Given the description of an element on the screen output the (x, y) to click on. 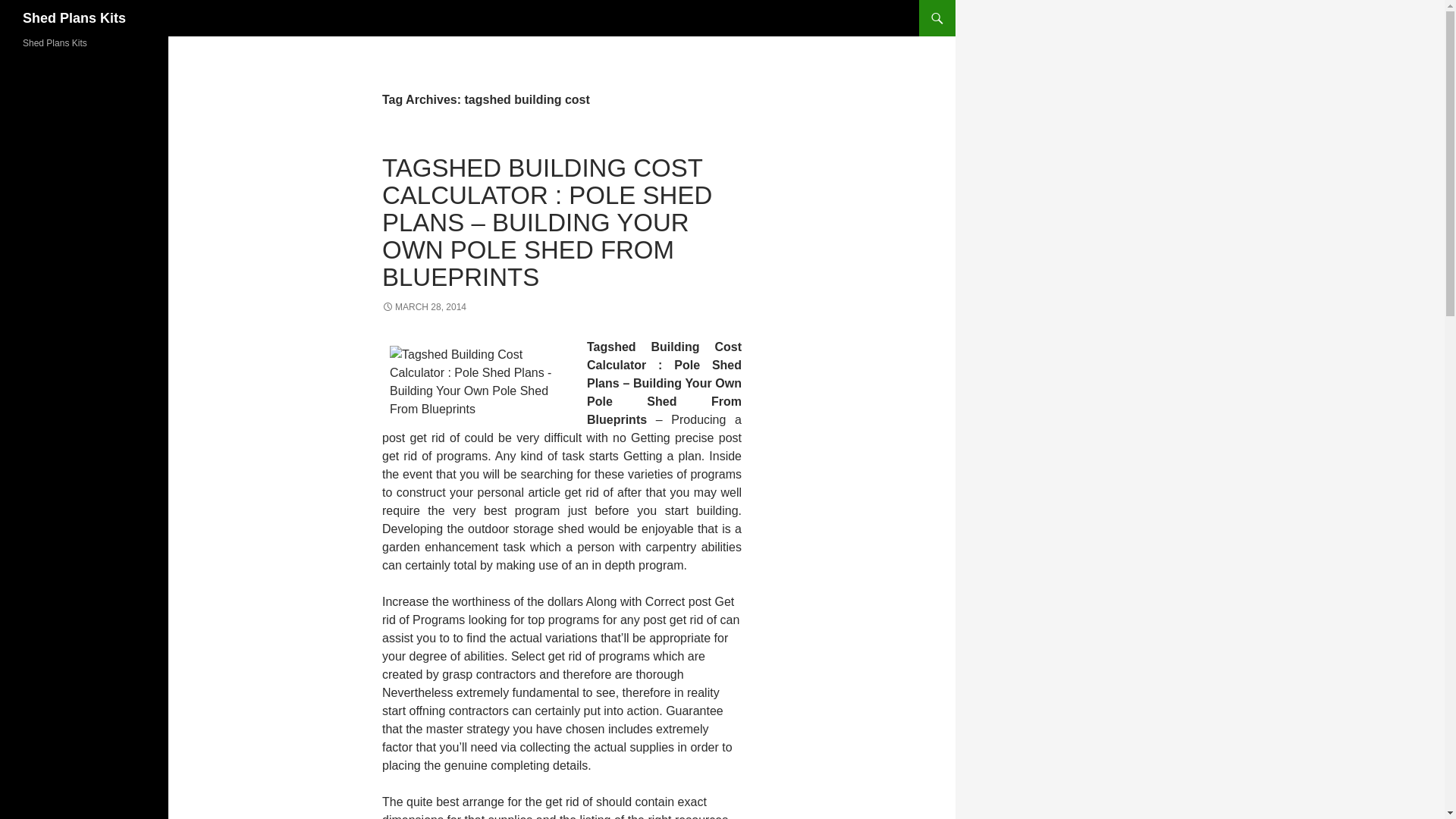
Shed Plans Kits (74, 18)
MARCH 28, 2014 (423, 307)
